Given the description of an element on the screen output the (x, y) to click on. 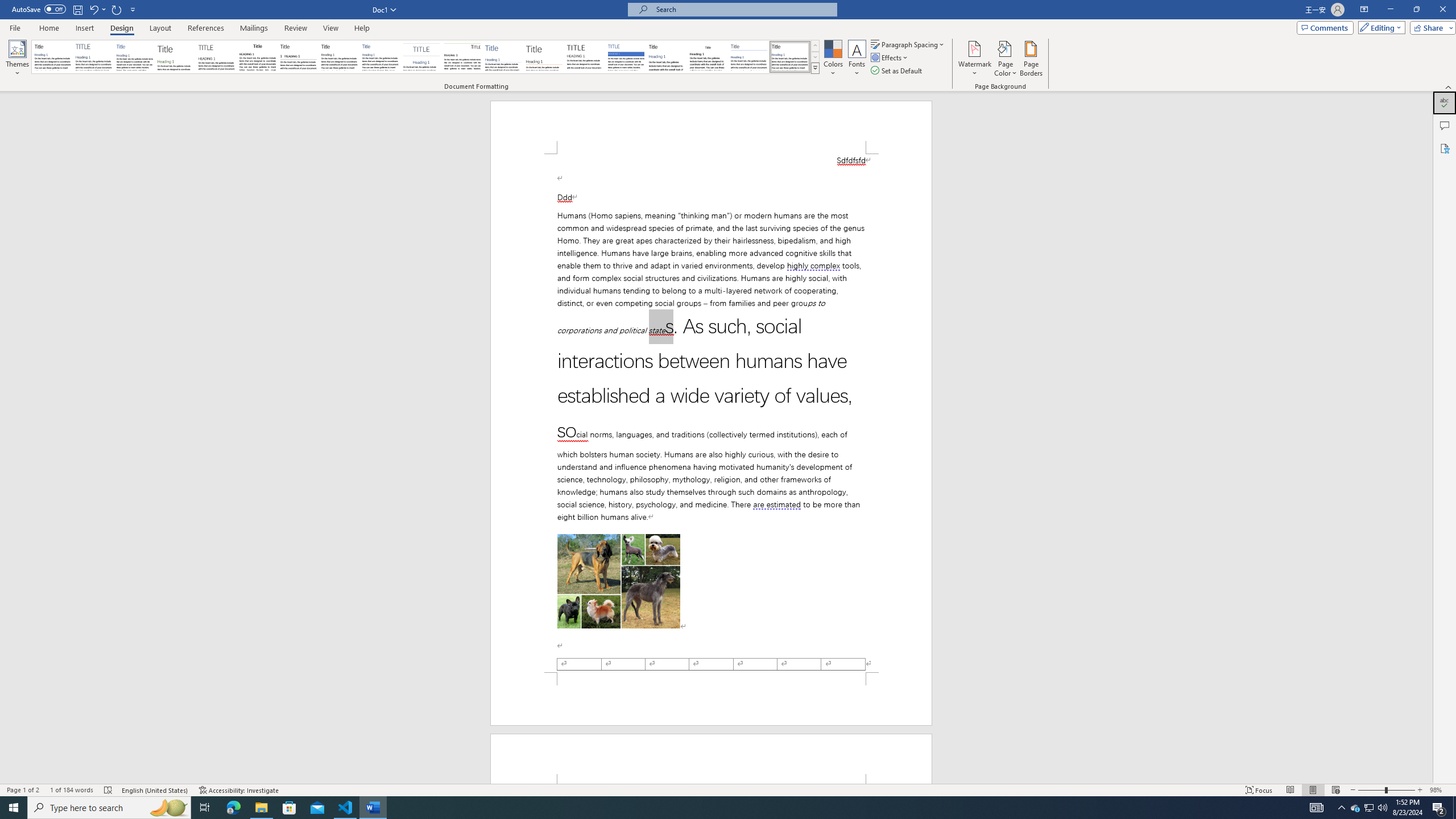
Lines (Stylish) (544, 56)
Fonts (856, 58)
Basic (Elegant) (93, 56)
Minimalist (584, 56)
Effects (890, 56)
Black & White (Word 2013) (338, 56)
Black & White (Capitalized) (216, 56)
